Given the description of an element on the screen output the (x, y) to click on. 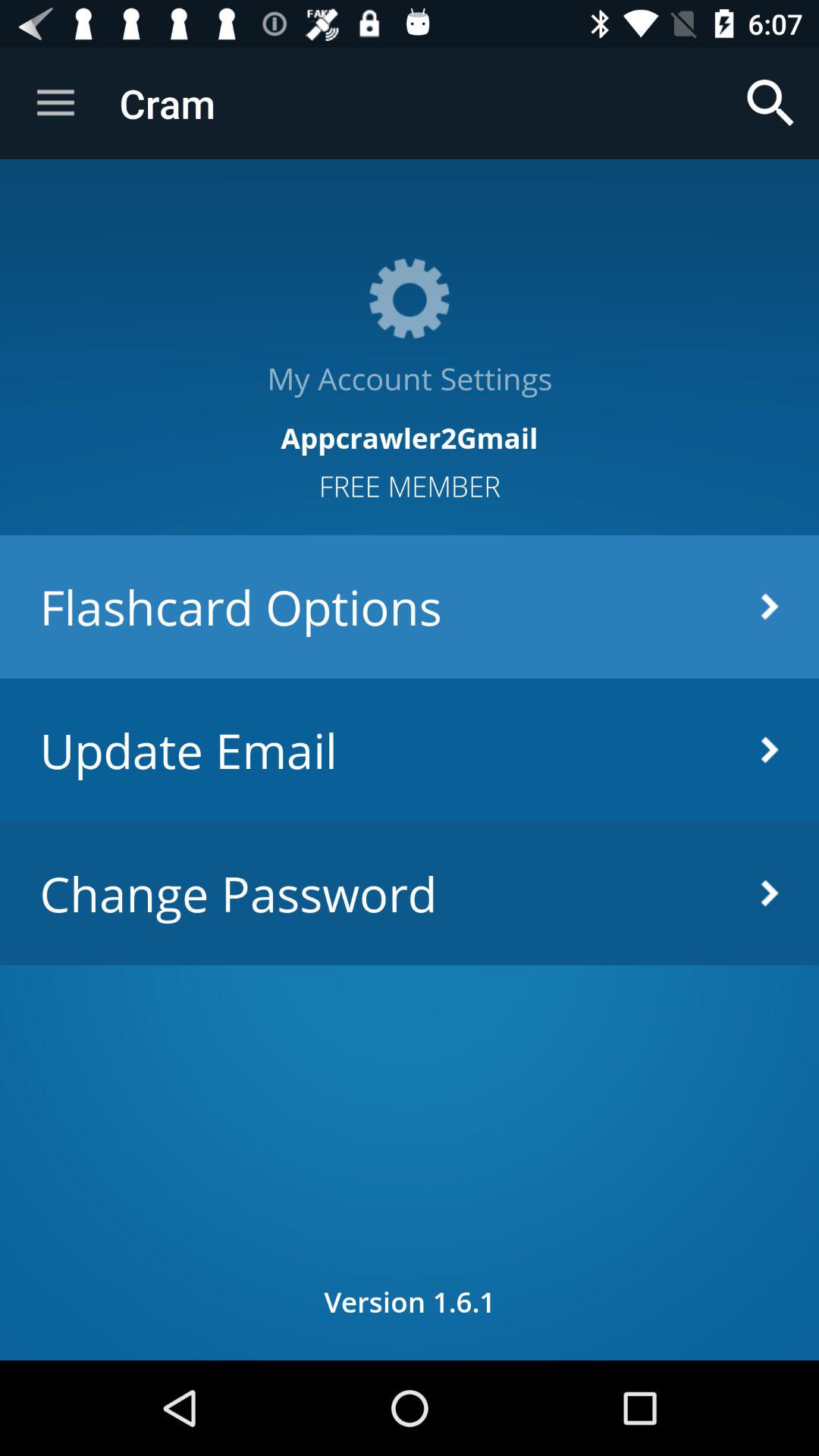
turn off the icon below the update email (409, 893)
